Given the description of an element on the screen output the (x, y) to click on. 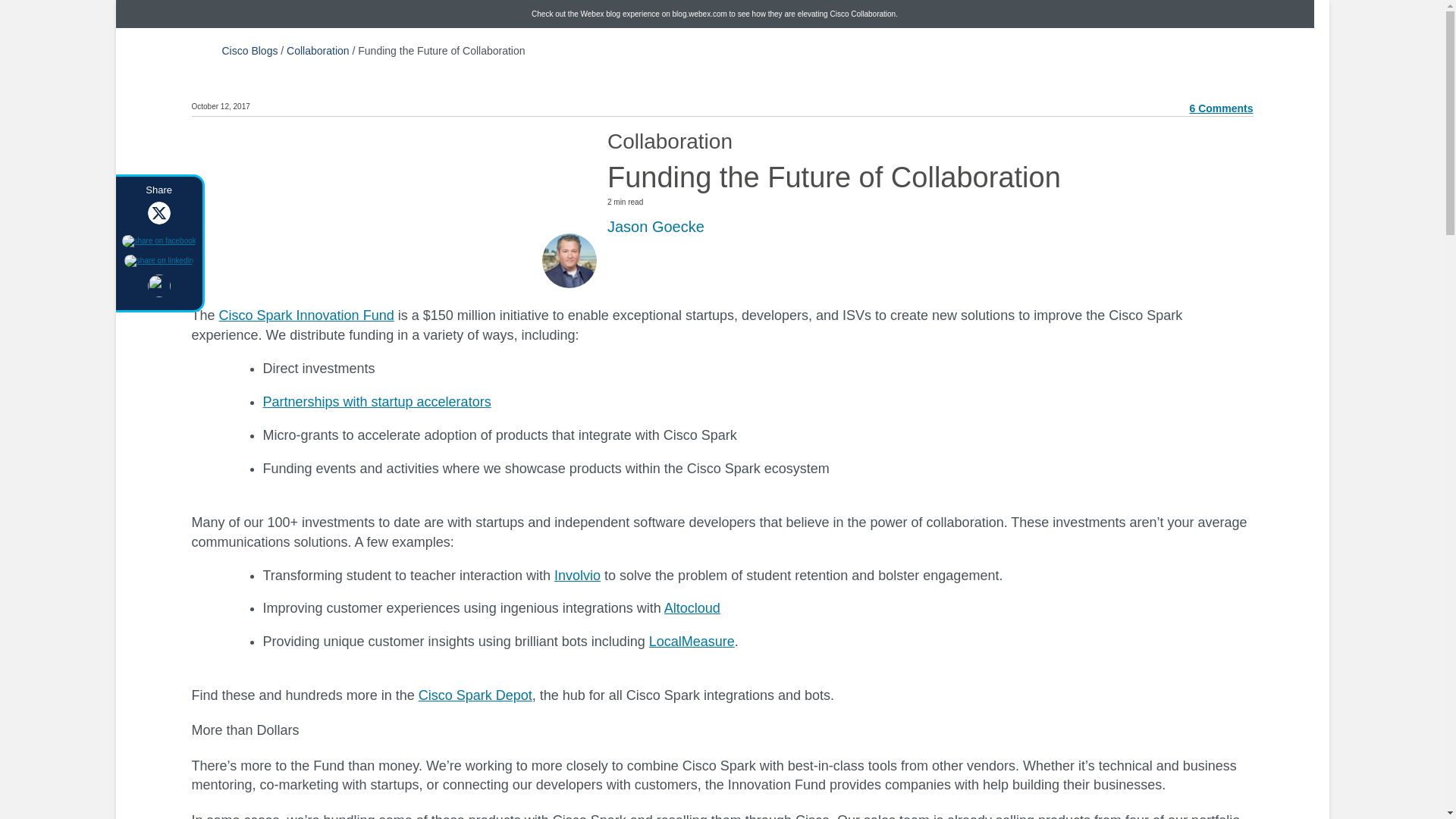
Partnerships with startup accelerators (376, 401)
Cisco Spark Depot (475, 694)
Altocloud (691, 607)
Collaboration (317, 50)
Cisco Spark Innovation Fund (306, 314)
LocalMeasure (692, 641)
Jason Goecke (655, 226)
Involvio (576, 574)
Posts by Jason Goecke (655, 226)
Cisco Blogs (249, 50)
